Given the description of an element on the screen output the (x, y) to click on. 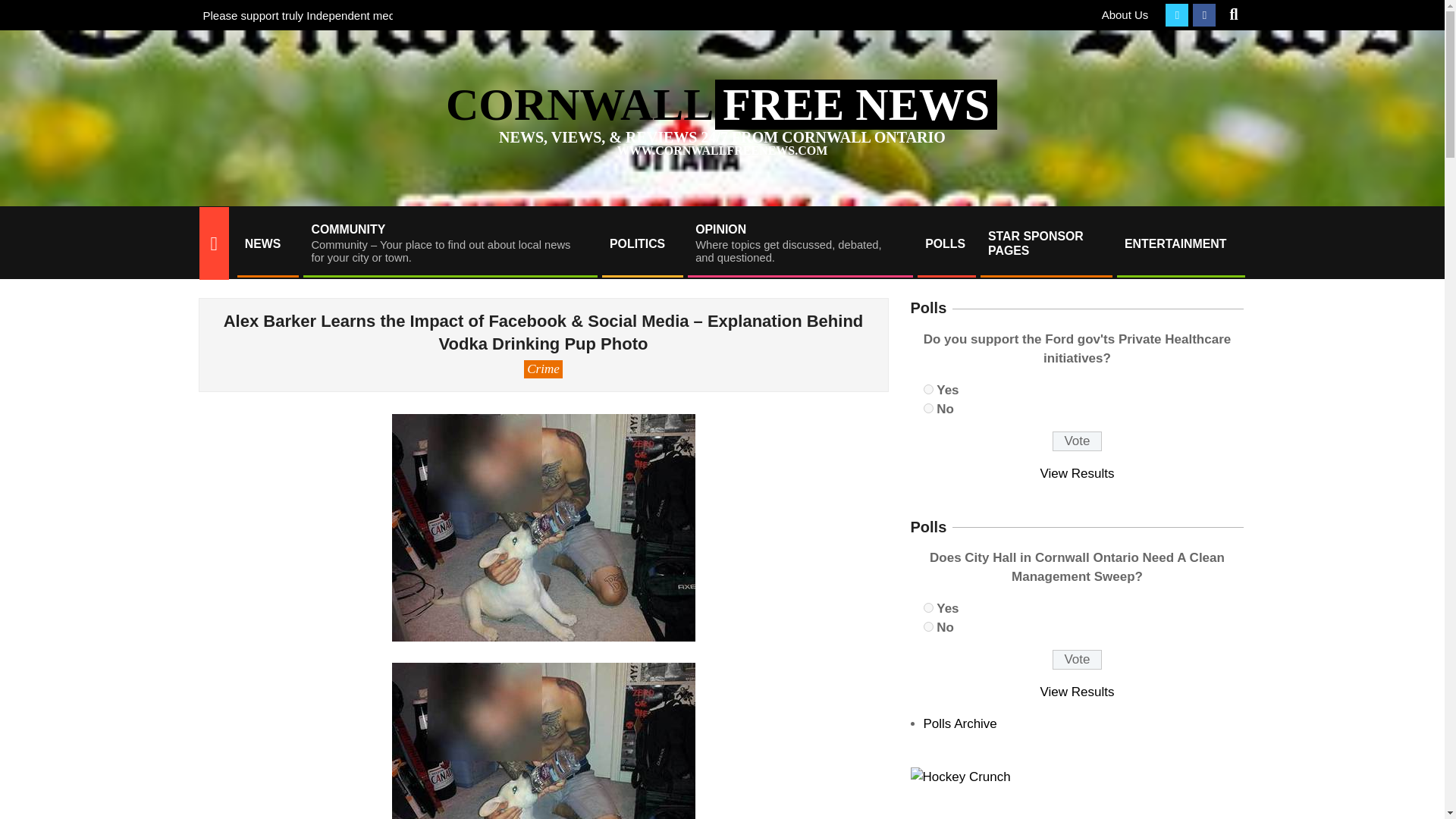
ENTERTAINMENT (1179, 243)
STAR SPONSOR PAGES (1044, 243)
   Vote    (1076, 659)
1776 (928, 388)
Alex Barker photo (542, 740)
NEWS (265, 243)
1771 (799, 243)
1777 (928, 626)
Search (928, 408)
POLITICS (24, 9)
   Vote    (641, 243)
About Us (1076, 441)
1770 (1125, 14)
POLLS (928, 607)
